Given the description of an element on the screen output the (x, y) to click on. 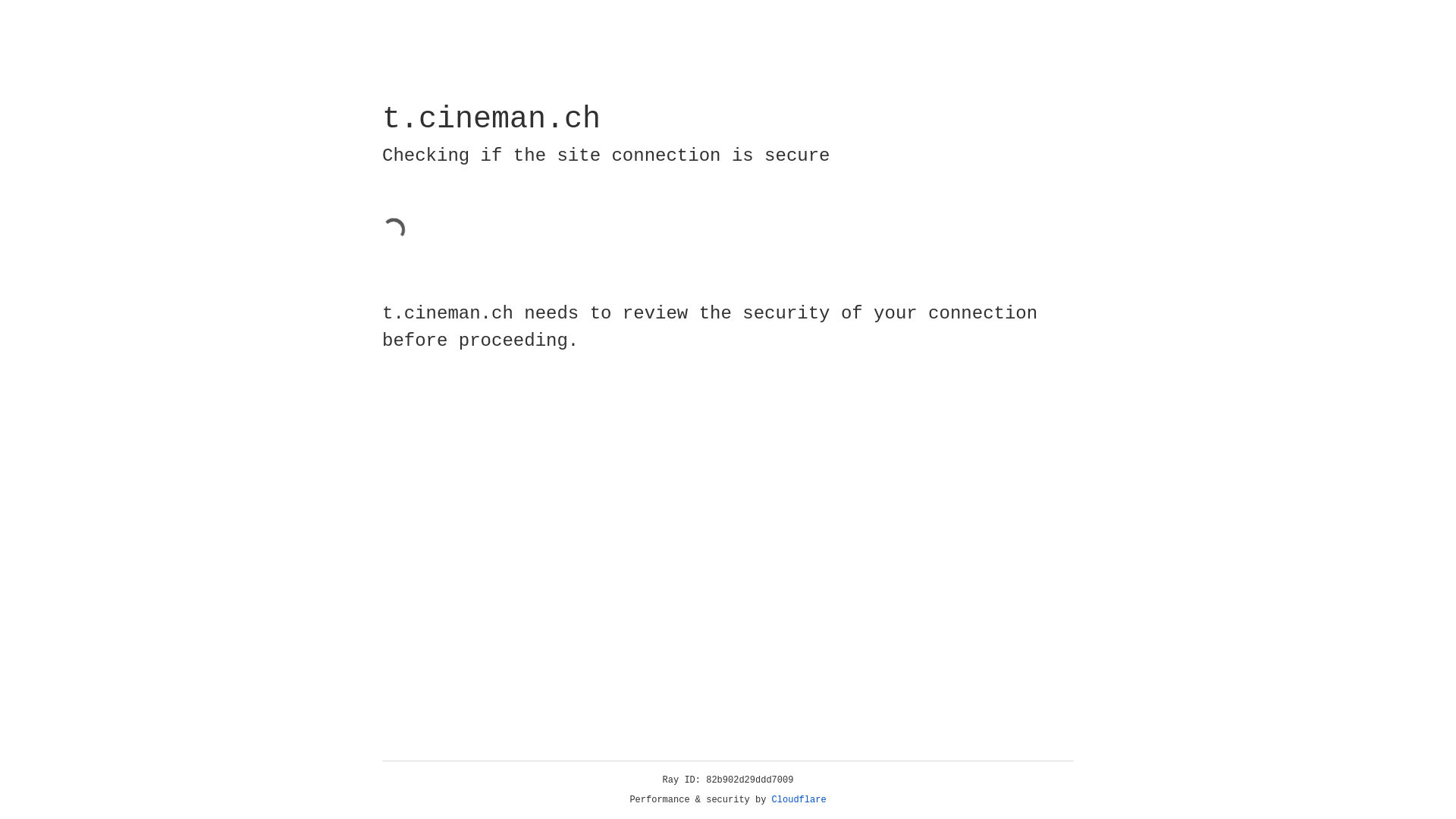
Cloudflare Element type: text (798, 799)
